Given the description of an element on the screen output the (x, y) to click on. 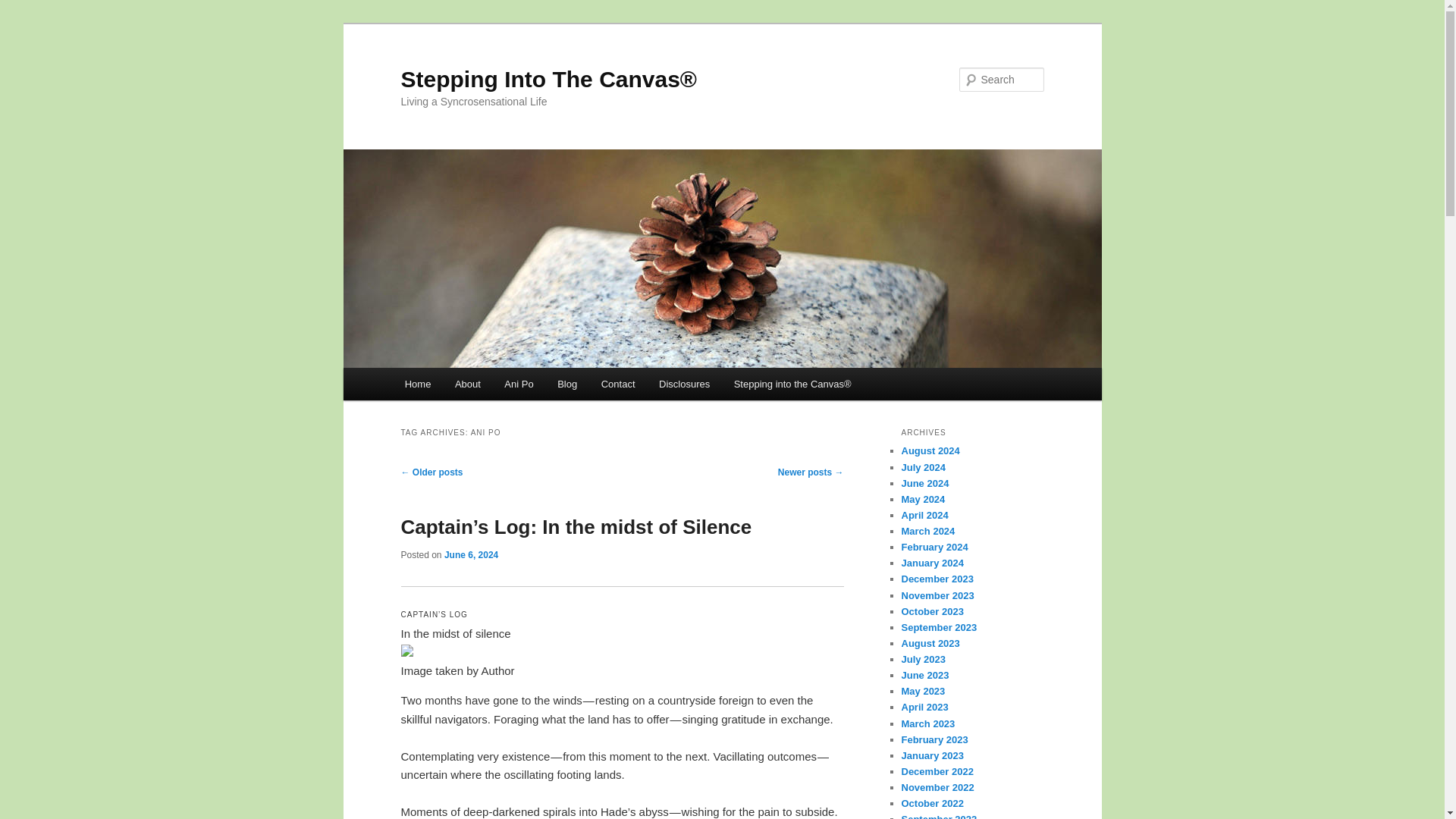
June 6, 2024 (470, 554)
Ani Po (519, 383)
Disclosures (684, 383)
About (467, 383)
Home (417, 383)
1:14 pm (470, 554)
Blog (566, 383)
Search (24, 8)
Contact (617, 383)
